Given the description of an element on the screen output the (x, y) to click on. 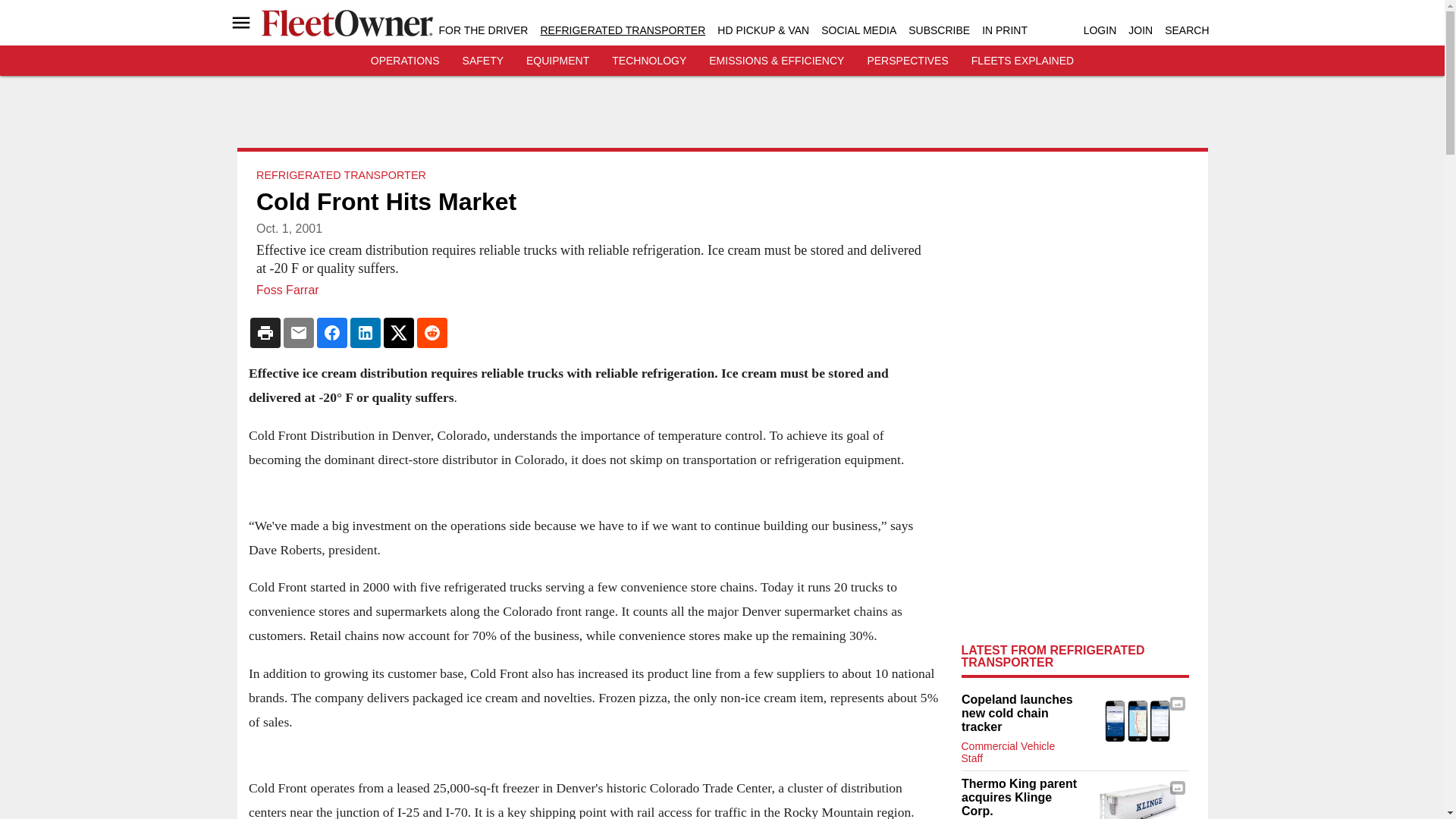
FOR THE DRIVER (482, 30)
PERSPECTIVES (906, 60)
LOGIN (1099, 30)
SAFETY (483, 60)
IN PRINT (1004, 30)
TECHNOLOGY (648, 60)
JOIN (1140, 30)
OPERATIONS (405, 60)
REFRIGERATED TRANSPORTER (622, 30)
EQUIPMENT (557, 60)
